Given the description of an element on the screen output the (x, y) to click on. 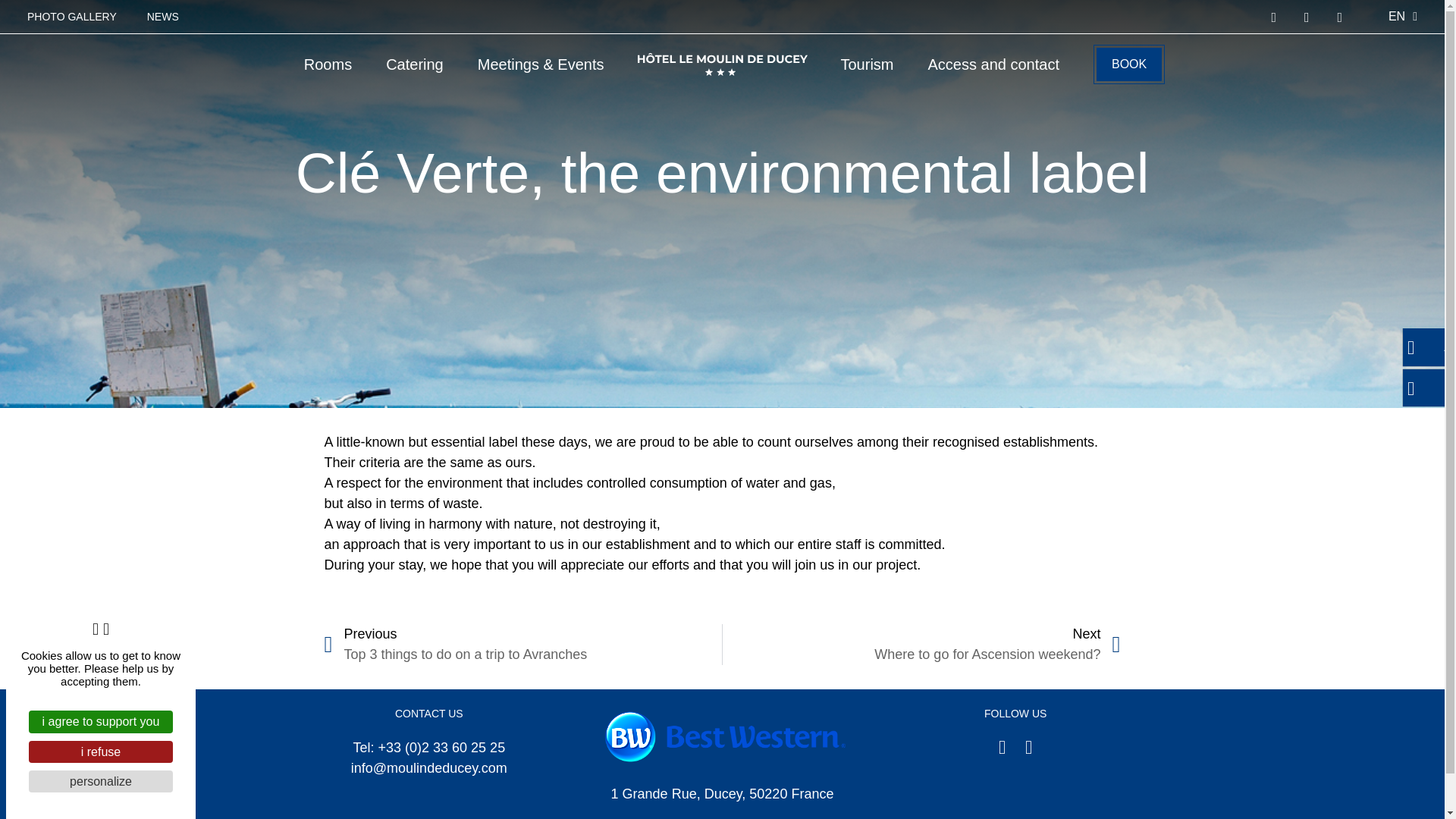
EN (1402, 16)
Access and contact (993, 63)
BOOK (1128, 64)
Tourism (866, 63)
Catering (414, 63)
Rooms (328, 63)
PHOTO GALLERY (71, 16)
NEWS (162, 16)
